Given the description of an element on the screen output the (x, y) to click on. 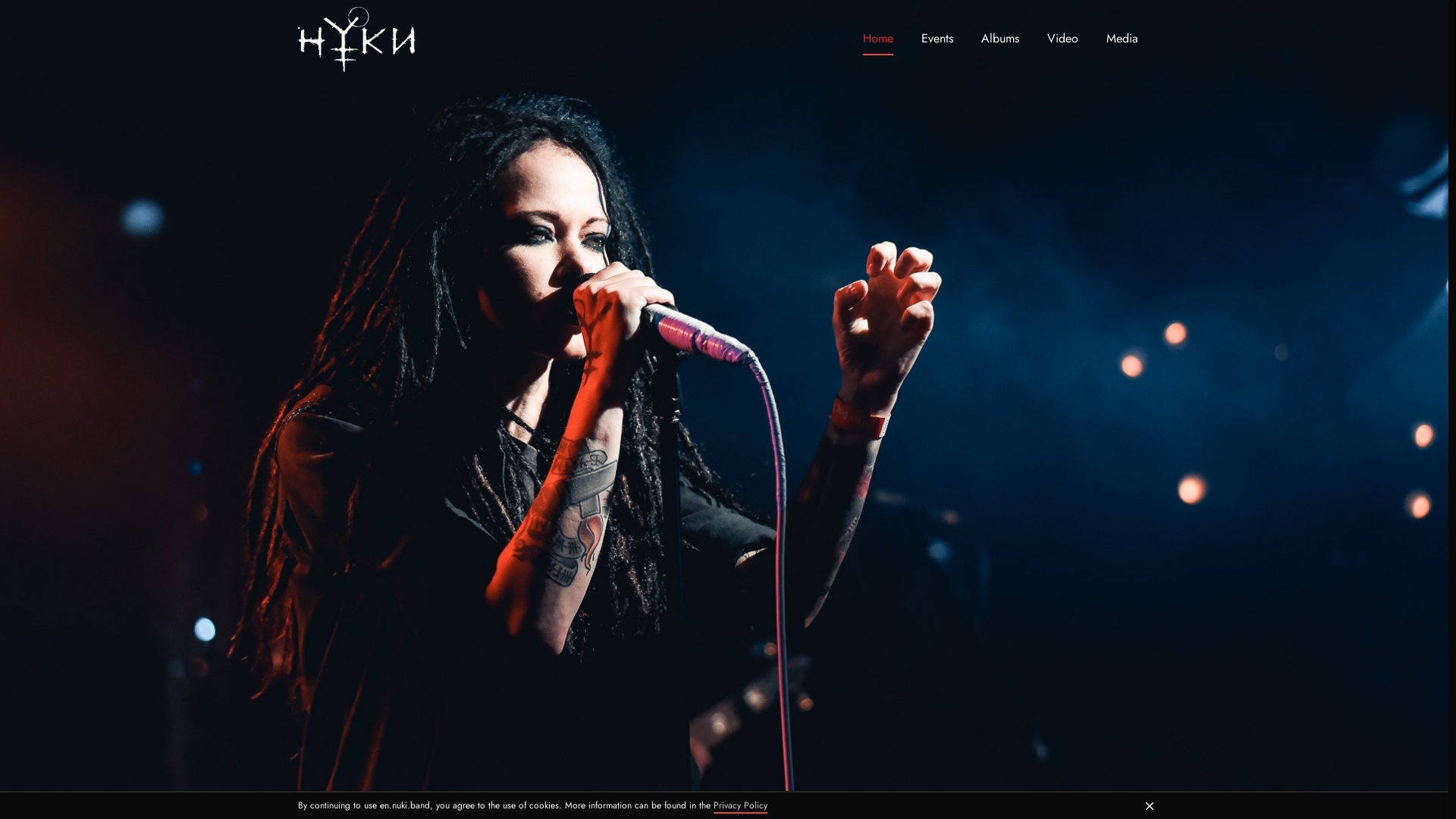
Albums Element type: text (1000, 39)
Video Element type: text (1062, 39)
Privacy Policy Element type: text (740, 805)
Home Element type: text (877, 39)
Media Element type: text (1122, 39)
Events Element type: text (937, 39)
